Given the description of an element on the screen output the (x, y) to click on. 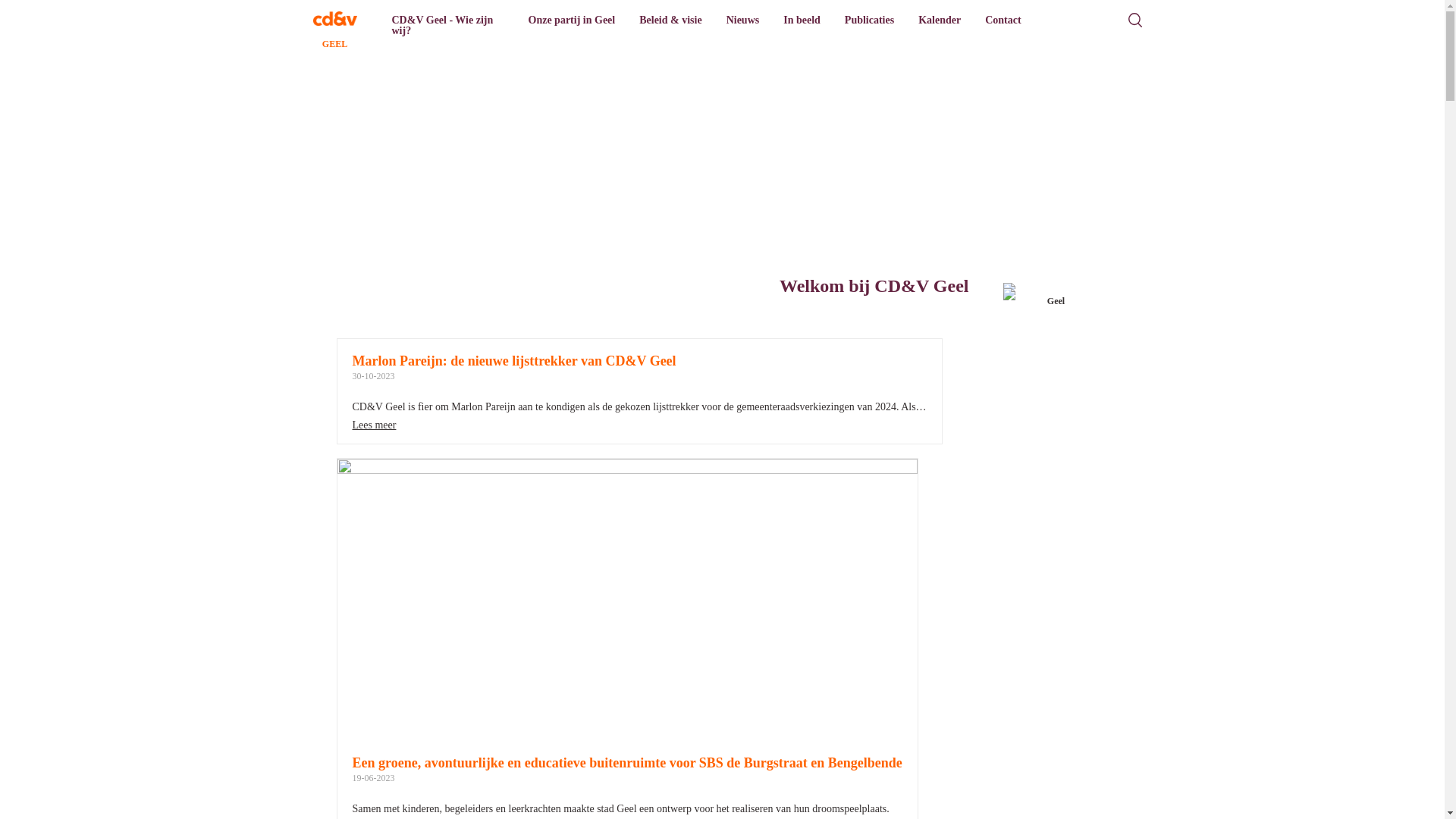
Publicaties Element type: text (869, 20)
Onze partij in Geel Element type: text (571, 20)
Contact Element type: text (1002, 20)
In beeld Element type: text (801, 20)
Marlon Pareijn: de nieuwe lijsttrekker van CD&V Geel Element type: text (513, 360)
Beleid & visie Element type: text (670, 20)
GEEL Element type: text (334, 19)
Nieuws Element type: text (742, 20)
Kalender Element type: text (939, 20)
Search Element type: hover (1134, 19)
CD&V Geel - Wie zijn wij? Element type: text (447, 25)
